Given the description of an element on the screen output the (x, y) to click on. 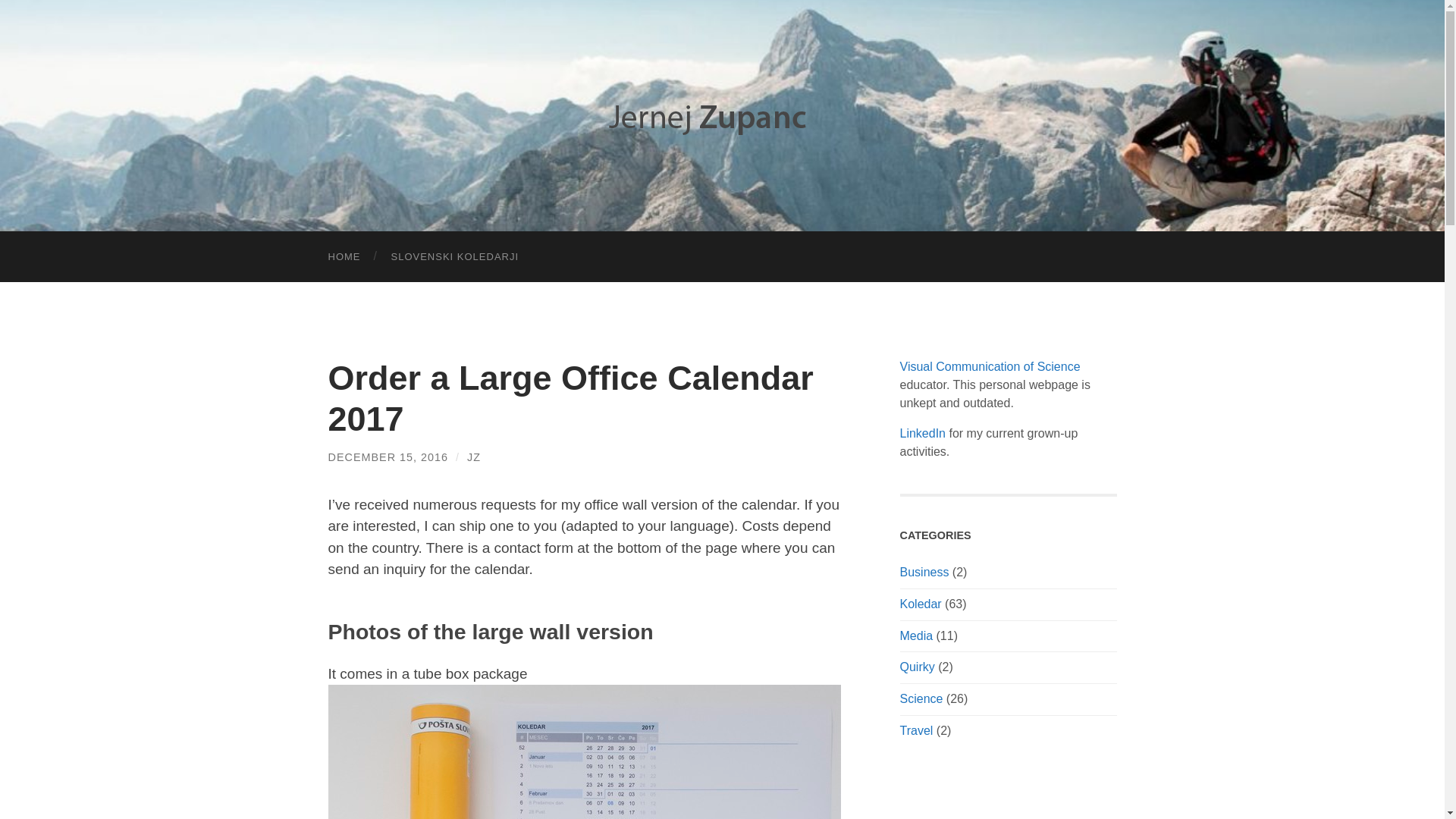
DECEMBER 15, 2016 (387, 457)
Koledar (919, 603)
LinkedIn (921, 432)
JZ (473, 457)
Posts by jZ (473, 457)
Science (920, 698)
Quirky (916, 666)
Jernej Zupanc (721, 113)
Business (924, 571)
Media (916, 635)
